Given the description of an element on the screen output the (x, y) to click on. 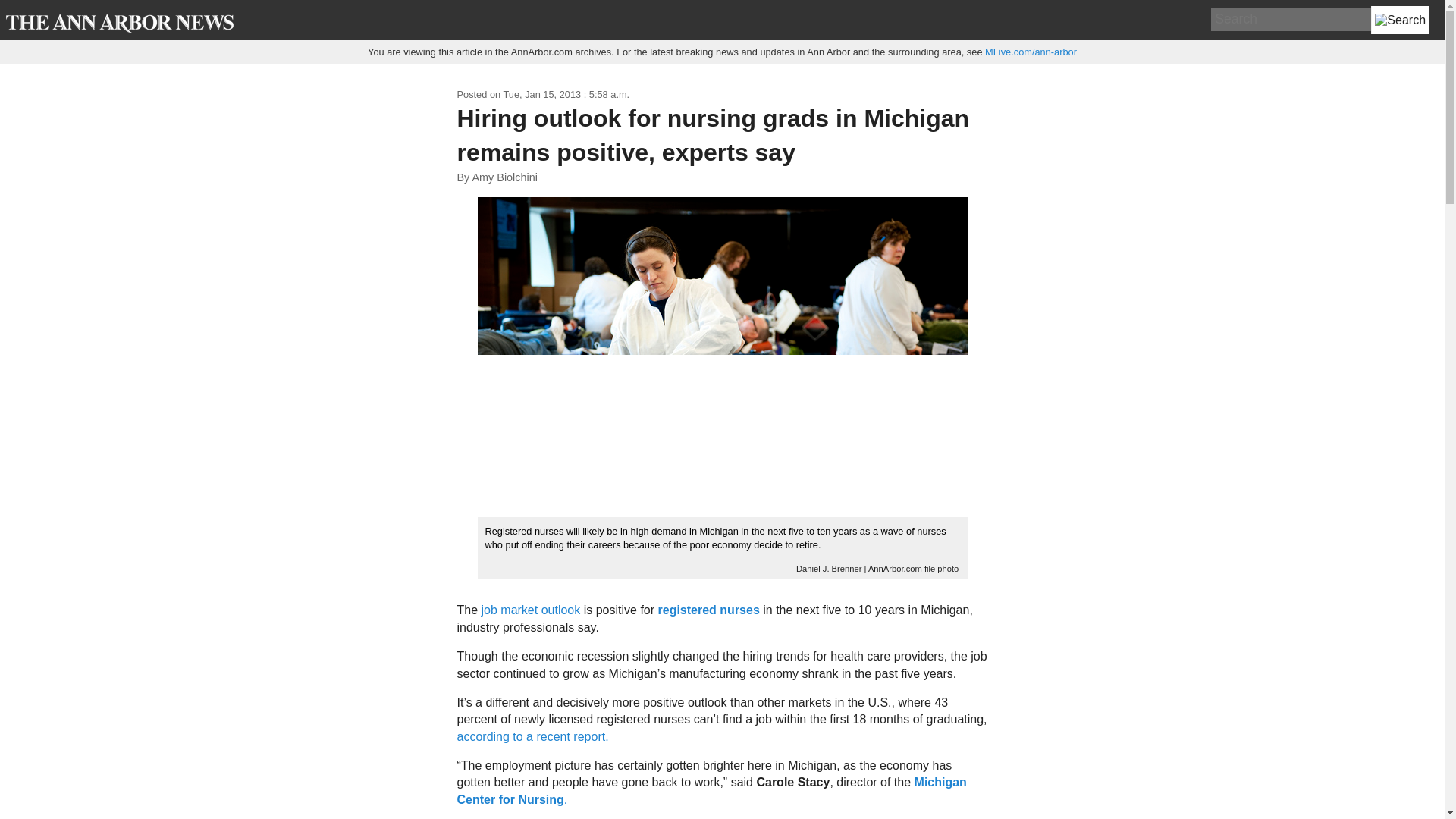
according to a recent report. (532, 736)
Michigan Center for Nursing. (711, 790)
job market outlook (530, 609)
registered nurses (709, 609)
